Given the description of an element on the screen output the (x, y) to click on. 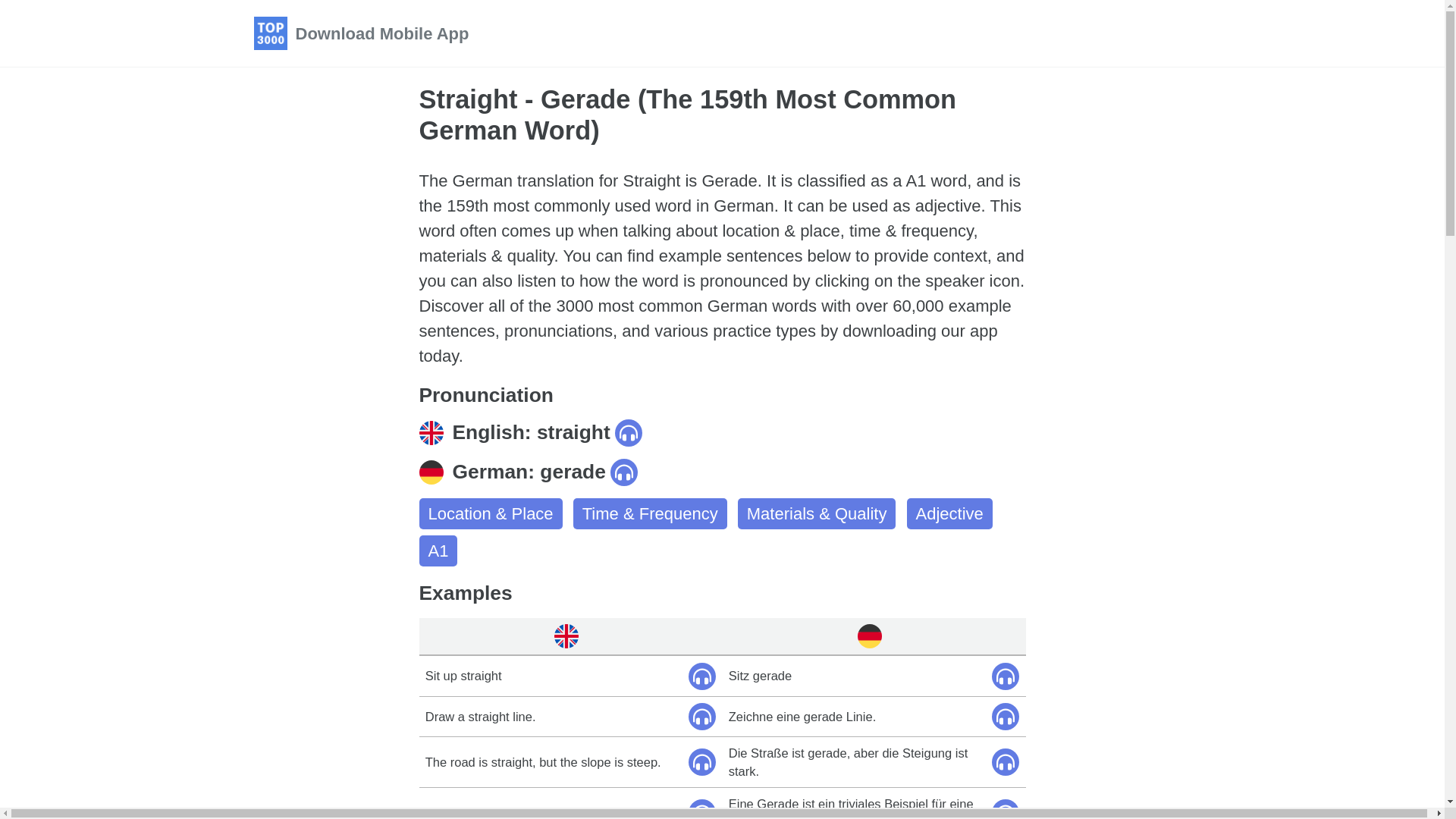
Download Mobile App (381, 33)
